Given the description of an element on the screen output the (x, y) to click on. 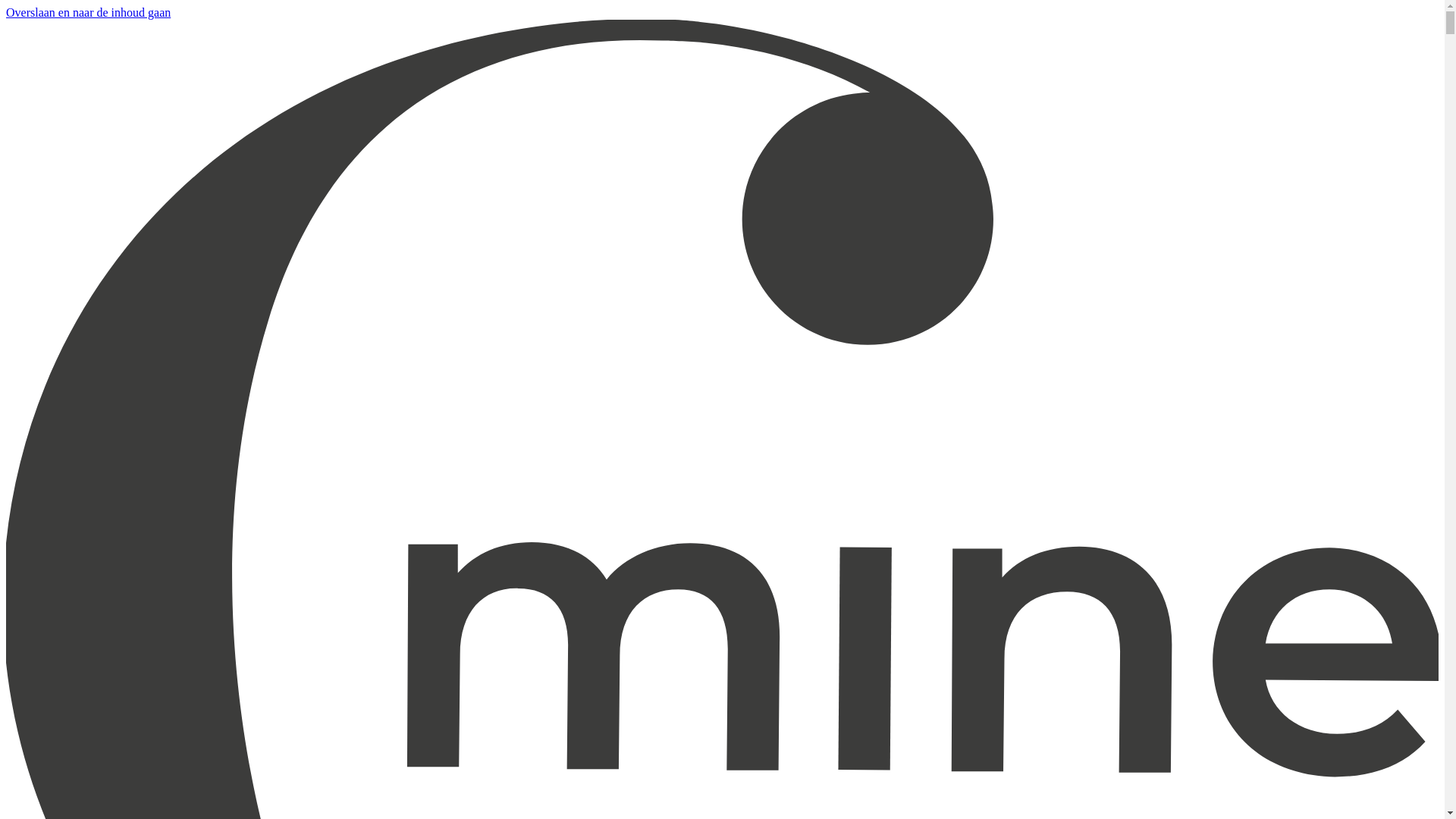
Overslaan en naar de inhoud gaan Element type: text (88, 12)
